Given the description of an element on the screen output the (x, y) to click on. 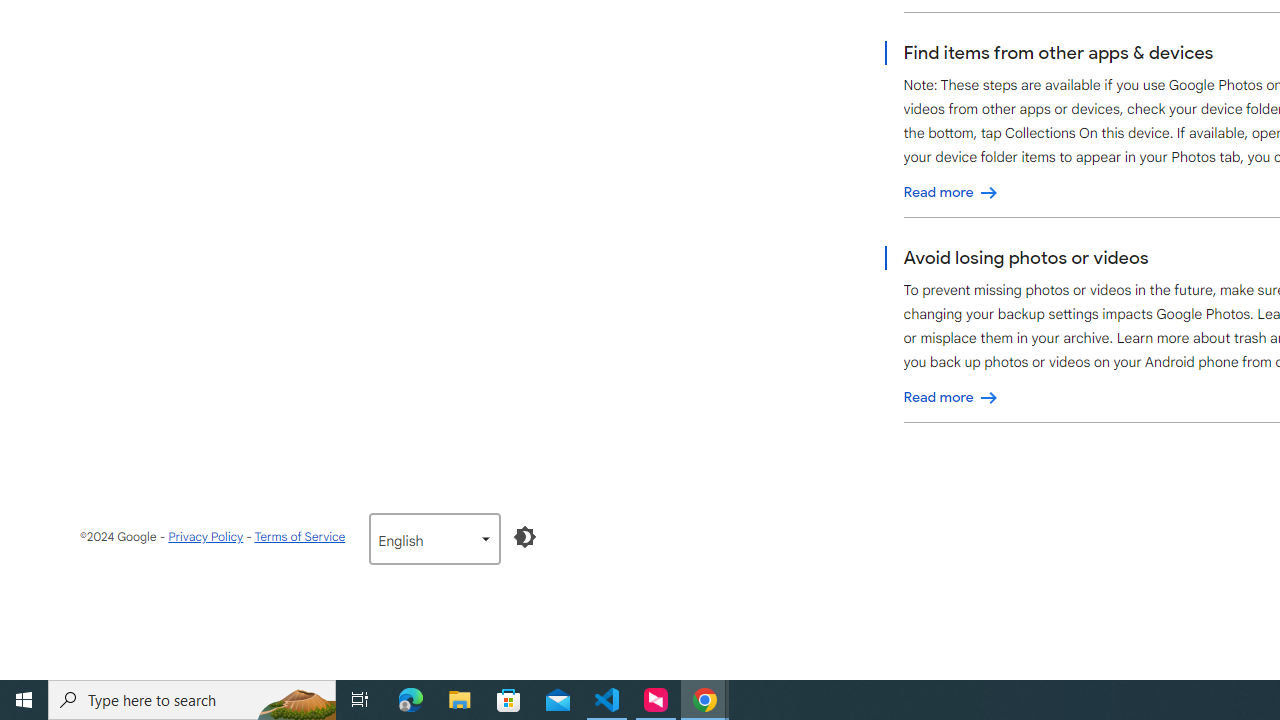
Find items from other apps & devices (951, 192)
Enable Dark Mode (525, 536)
Avoid losing photos or videos (951, 397)
